Given the description of an element on the screen output the (x, y) to click on. 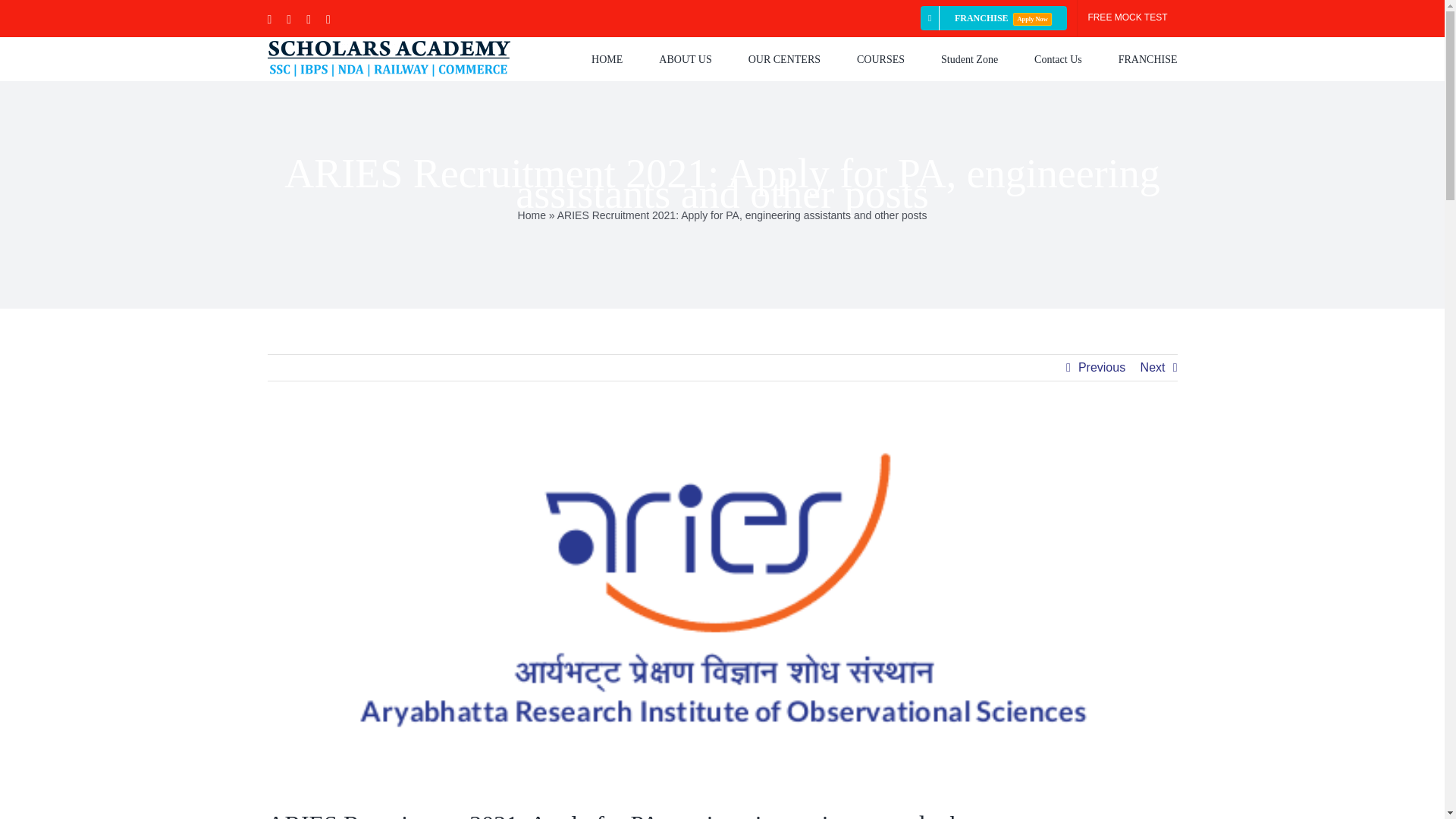
ABOUT US (685, 58)
COURSES (880, 58)
FRANCHISEApply Now (994, 18)
FREE MOCK TEST (1126, 18)
OUR CENTERS (784, 58)
